Given the description of an element on the screen output the (x, y) to click on. 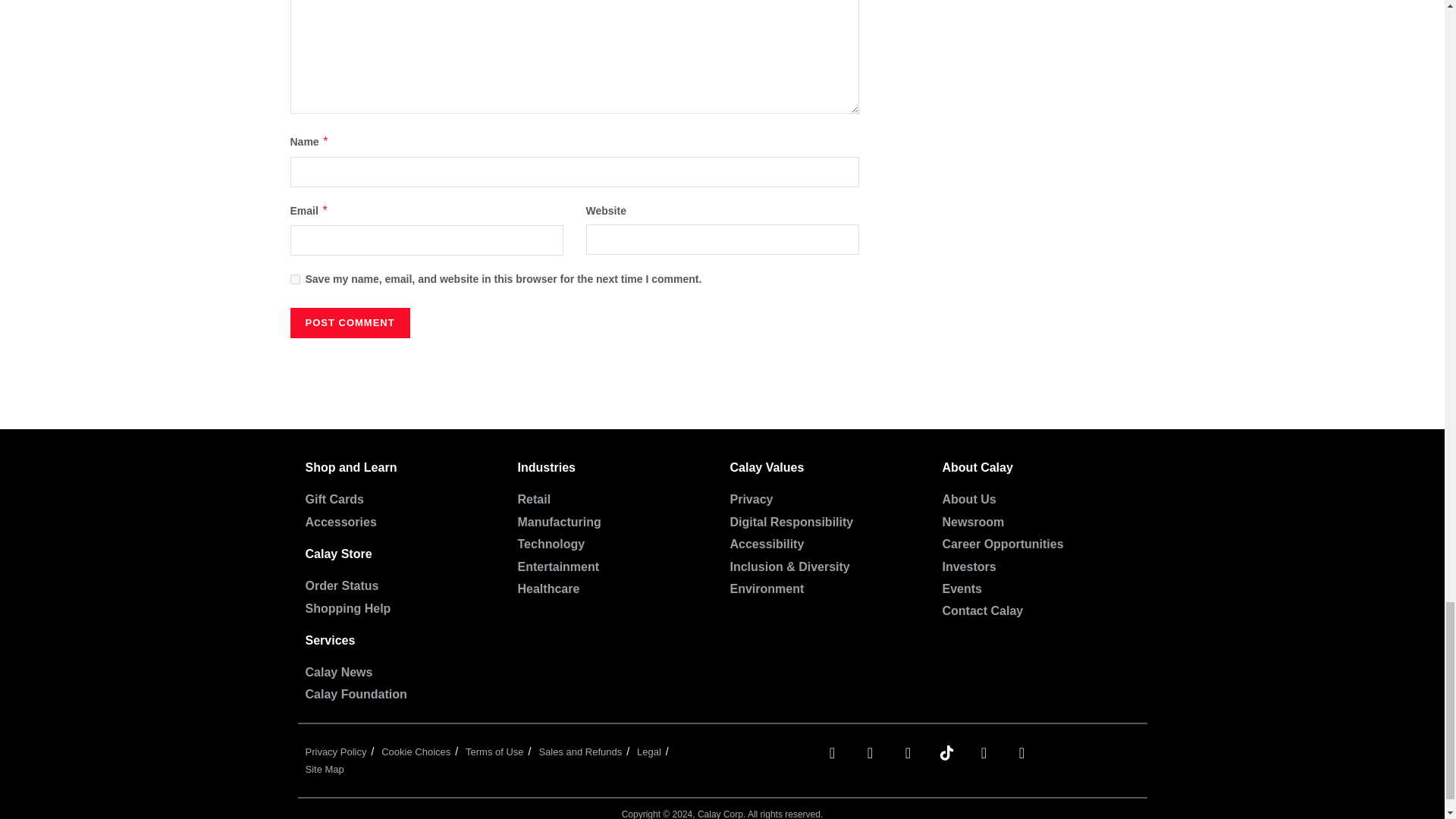
Post Comment (349, 322)
yes (294, 279)
